Given the description of an element on the screen output the (x, y) to click on. 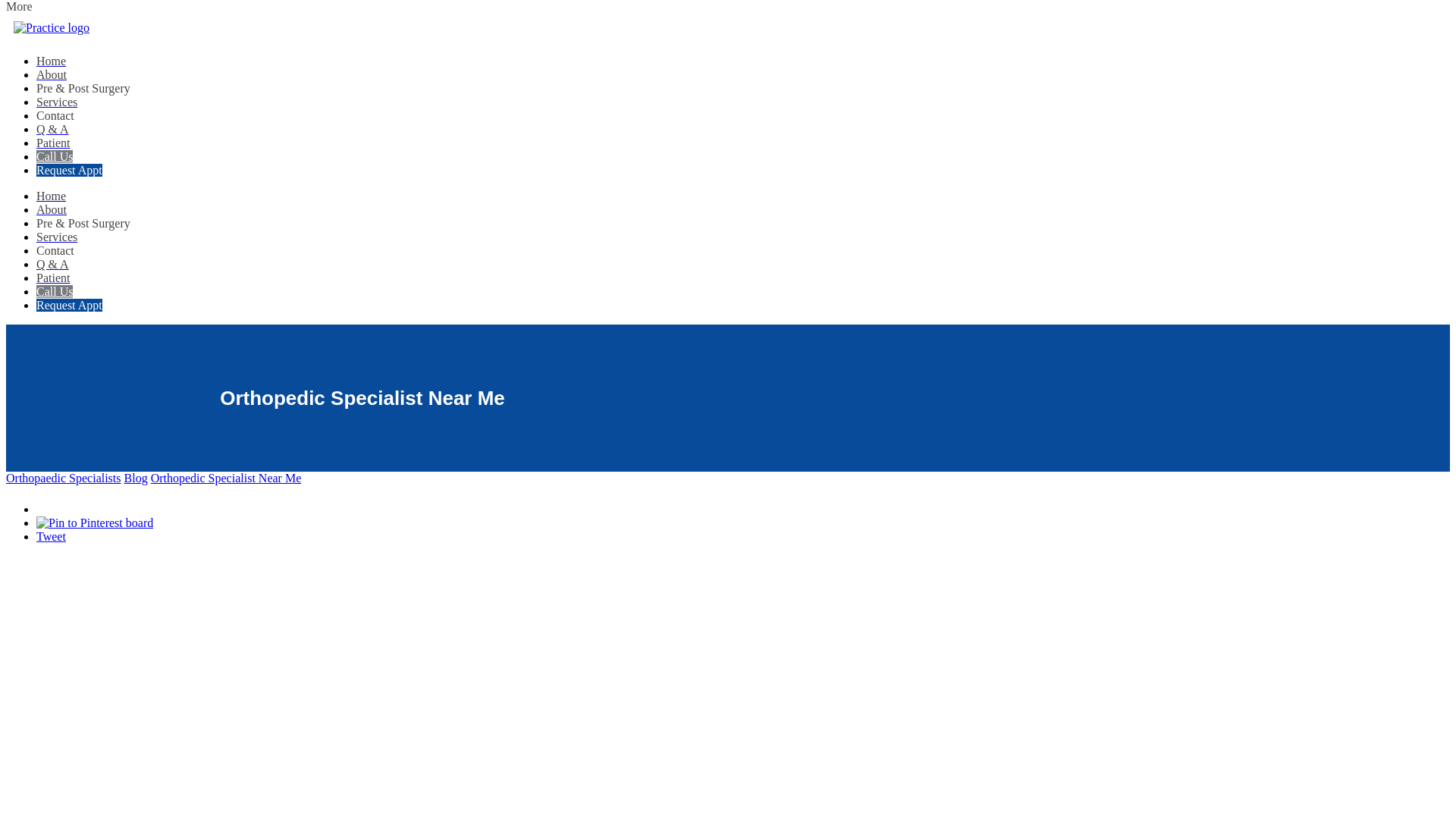
Contact (55, 115)
About (51, 74)
Services (56, 101)
Facebook social button (89, 505)
Home (50, 60)
